Given the description of an element on the screen output the (x, y) to click on. 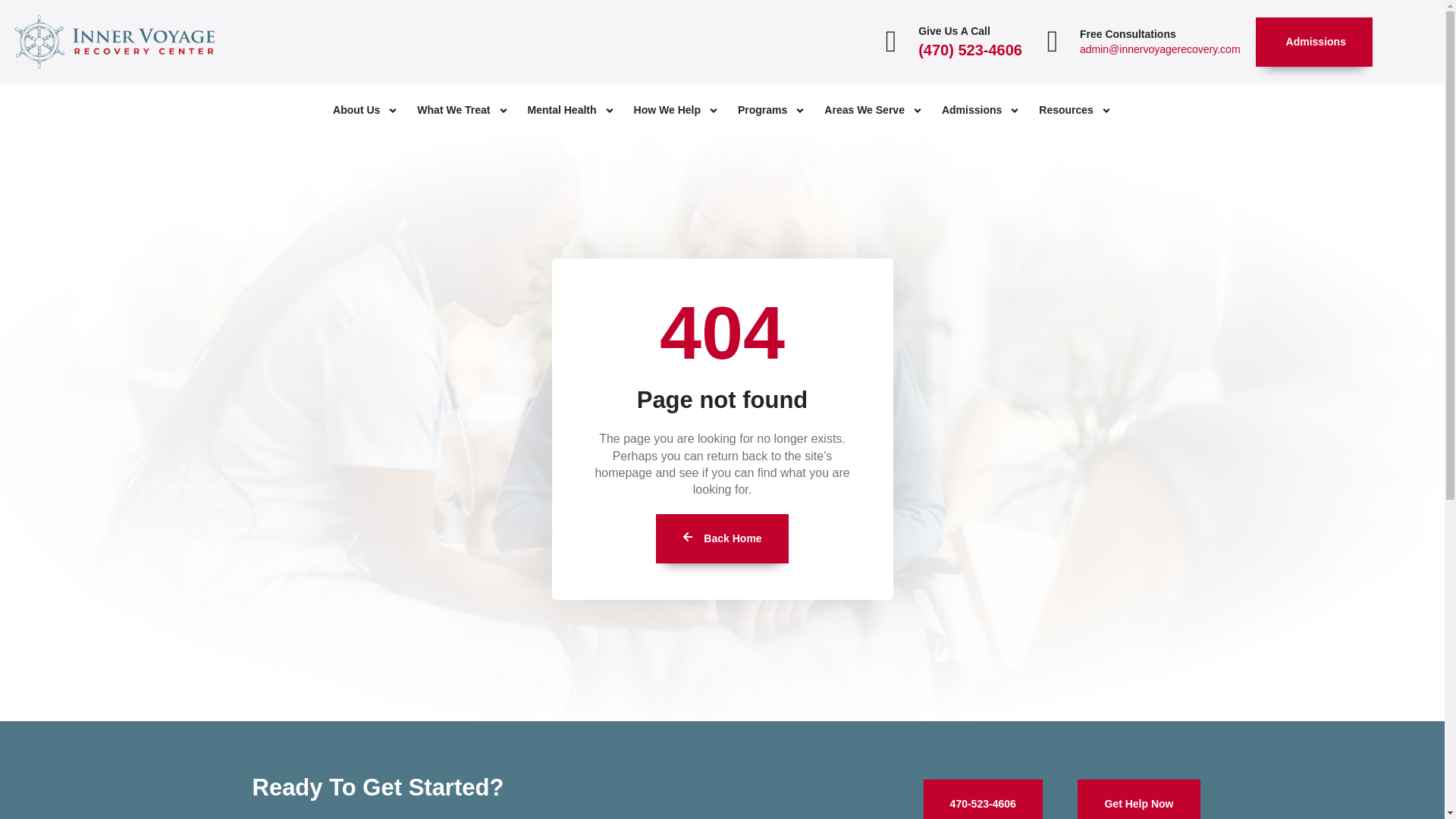
Give Us A Call (954, 30)
What We Treat (462, 110)
Free Consultations (1128, 33)
About Us (365, 110)
Admissions (1314, 41)
Mental Health (570, 110)
How We Help (676, 110)
